Given the description of an element on the screen output the (x, y) to click on. 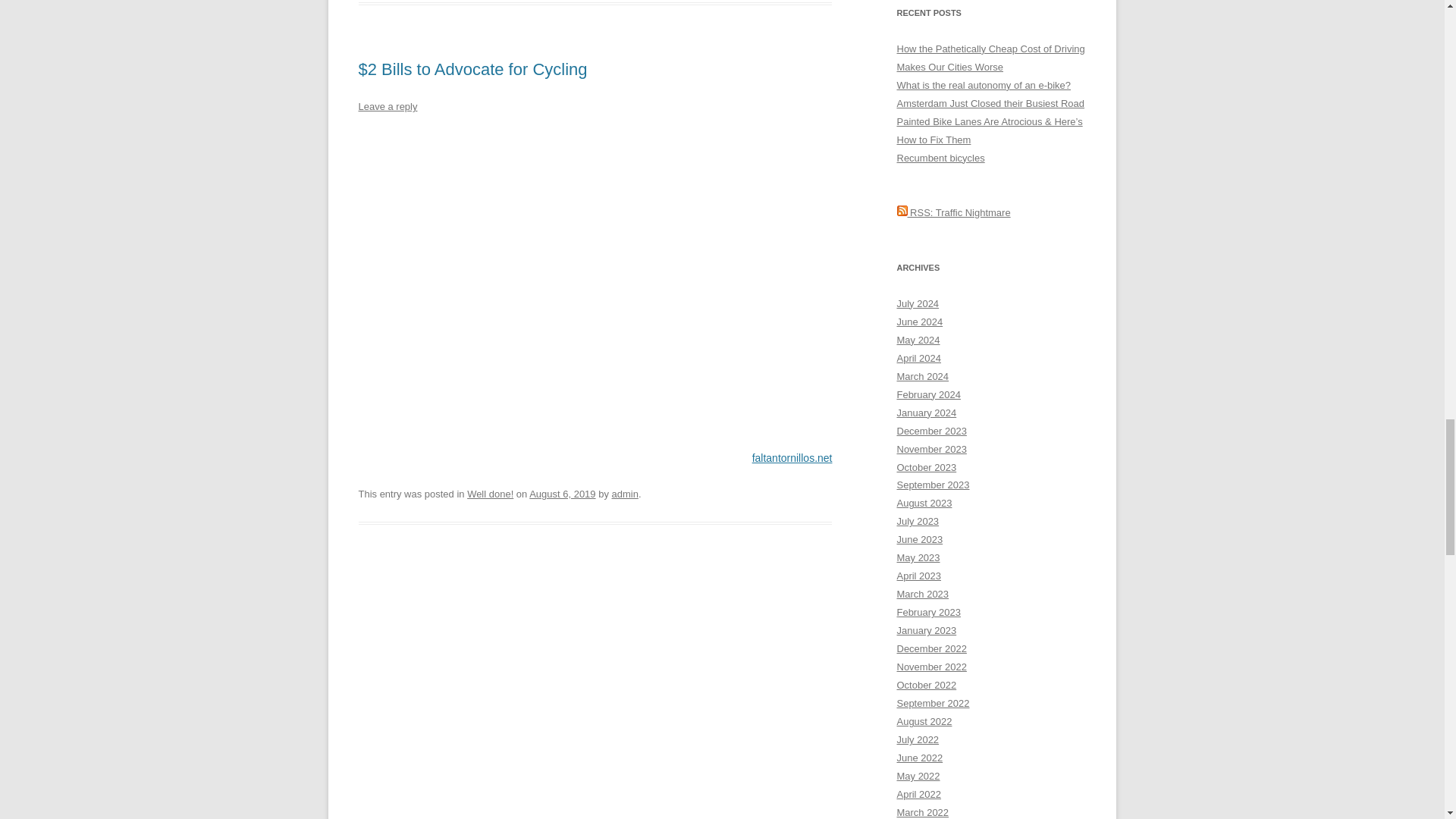
View all posts by admin (624, 493)
12:00 am (562, 493)
